Given the description of an element on the screen output the (x, y) to click on. 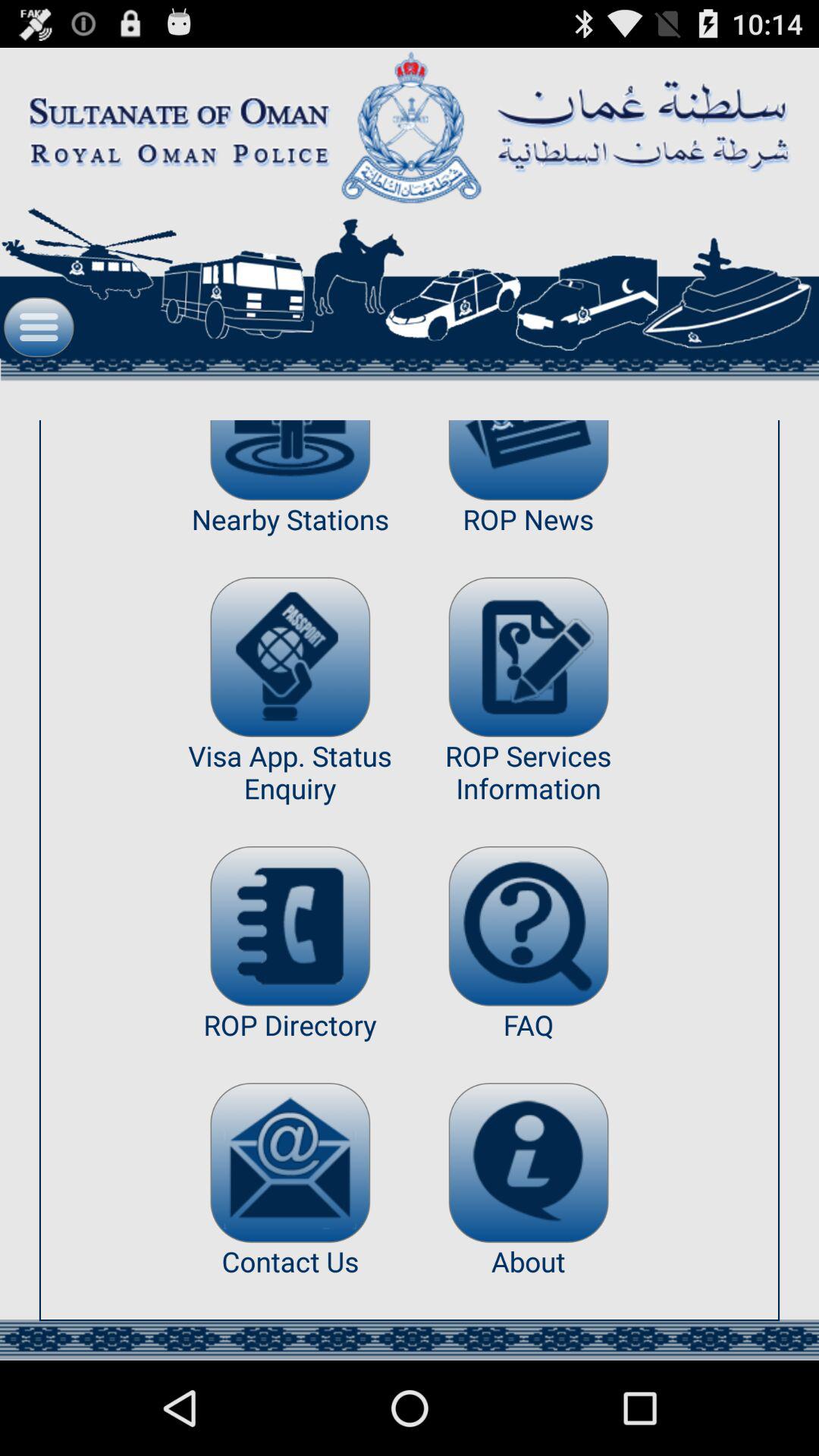
press the item to the right of nearby stations (528, 657)
